Given the description of an element on the screen output the (x, y) to click on. 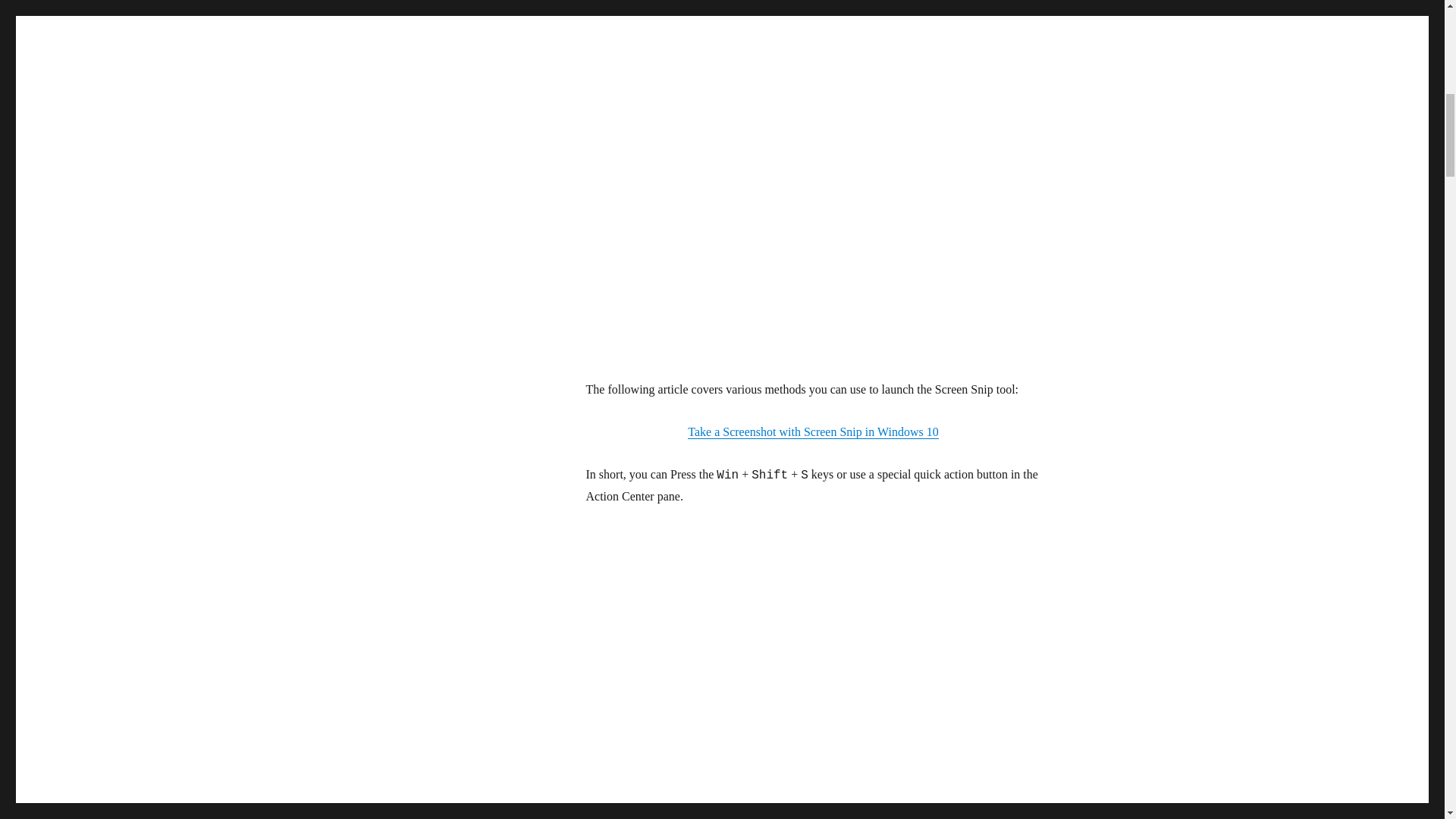
Take a Screenshot with Screen Snip in Windows 10 (812, 431)
